Given the description of an element on the screen output the (x, y) to click on. 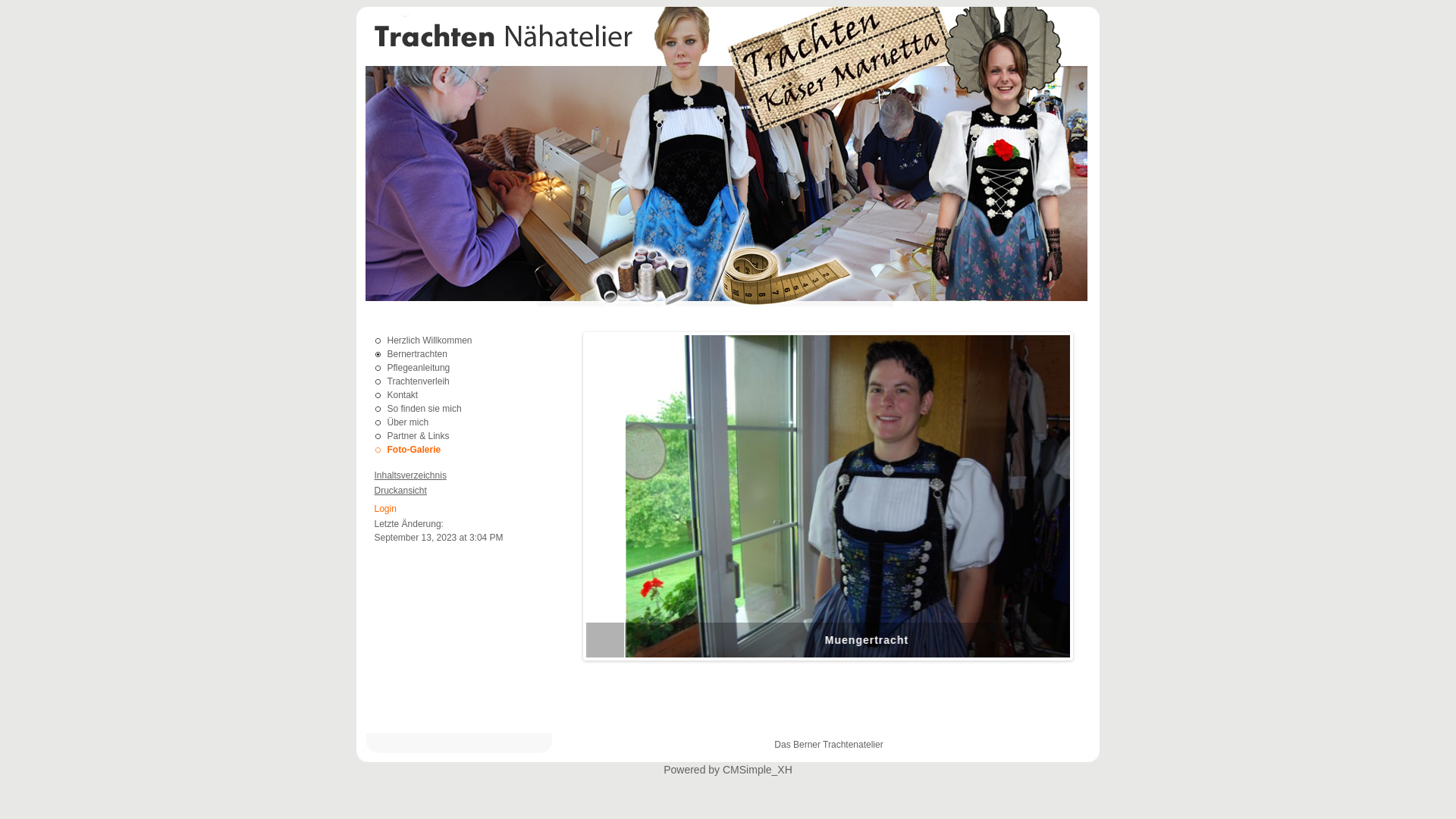
Bernertrachten Element type: text (416, 353)
Druckansicht Element type: text (400, 490)
Herzlich Willkommen Element type: text (428, 340)
Partner & Links Element type: text (417, 435)
Inhaltsverzeichnis Element type: text (410, 475)
Trachtenverleih Element type: text (417, 381)
Kontakt Element type: text (401, 394)
Login Element type: text (385, 508)
Pflegeanleitung Element type: text (417, 367)
So finden sie mich Element type: text (423, 408)
